Given the description of an element on the screen output the (x, y) to click on. 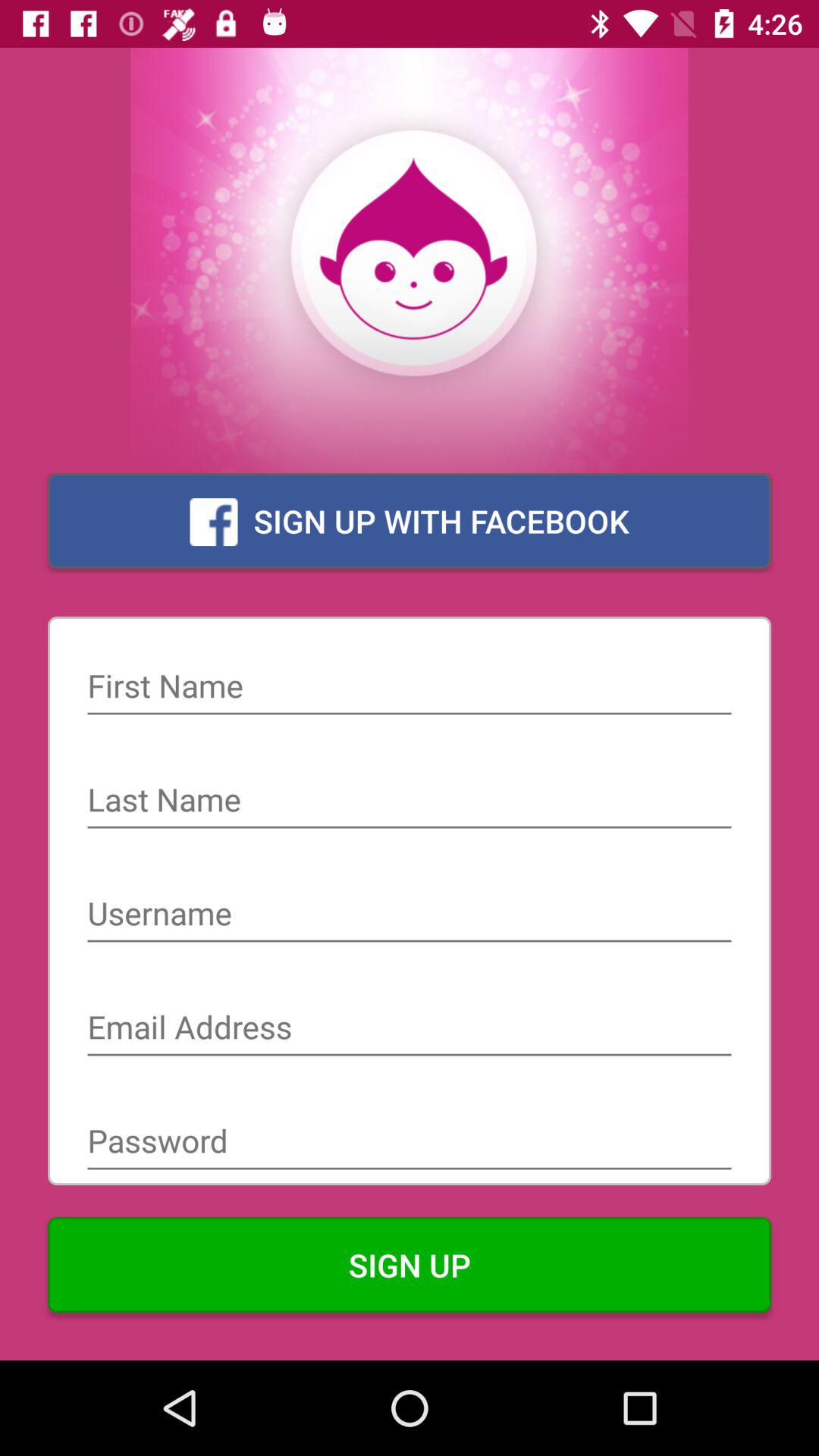
username text box (409, 915)
